Given the description of an element on the screen output the (x, y) to click on. 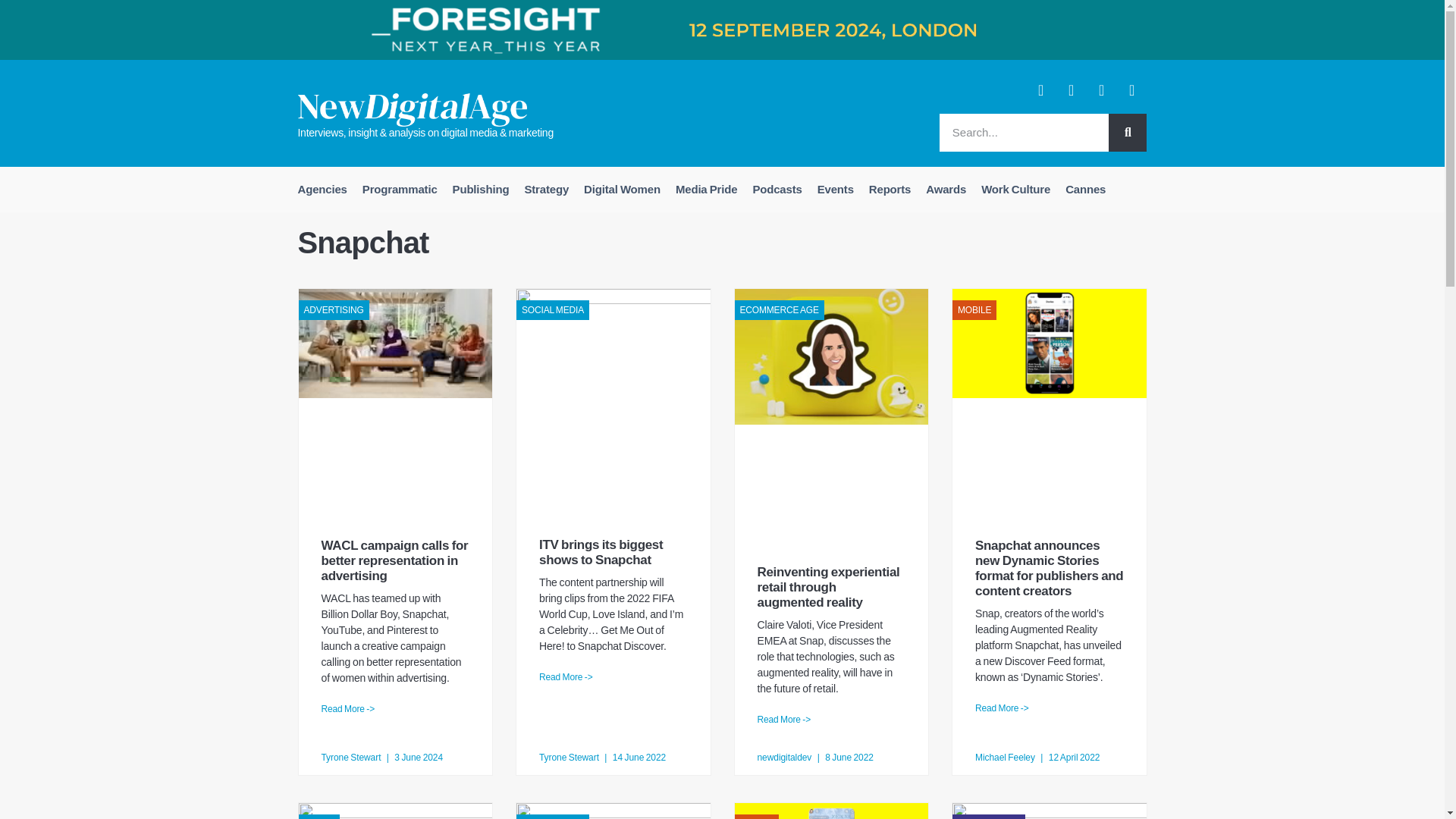
Podcasts (776, 189)
Work Culture (1016, 189)
Media Pride (706, 189)
Awards (946, 189)
Agencies (321, 189)
Reports (889, 189)
Programmatic (400, 189)
Publishing (480, 189)
Strategy (546, 189)
Events (835, 189)
